Given the description of an element on the screen output the (x, y) to click on. 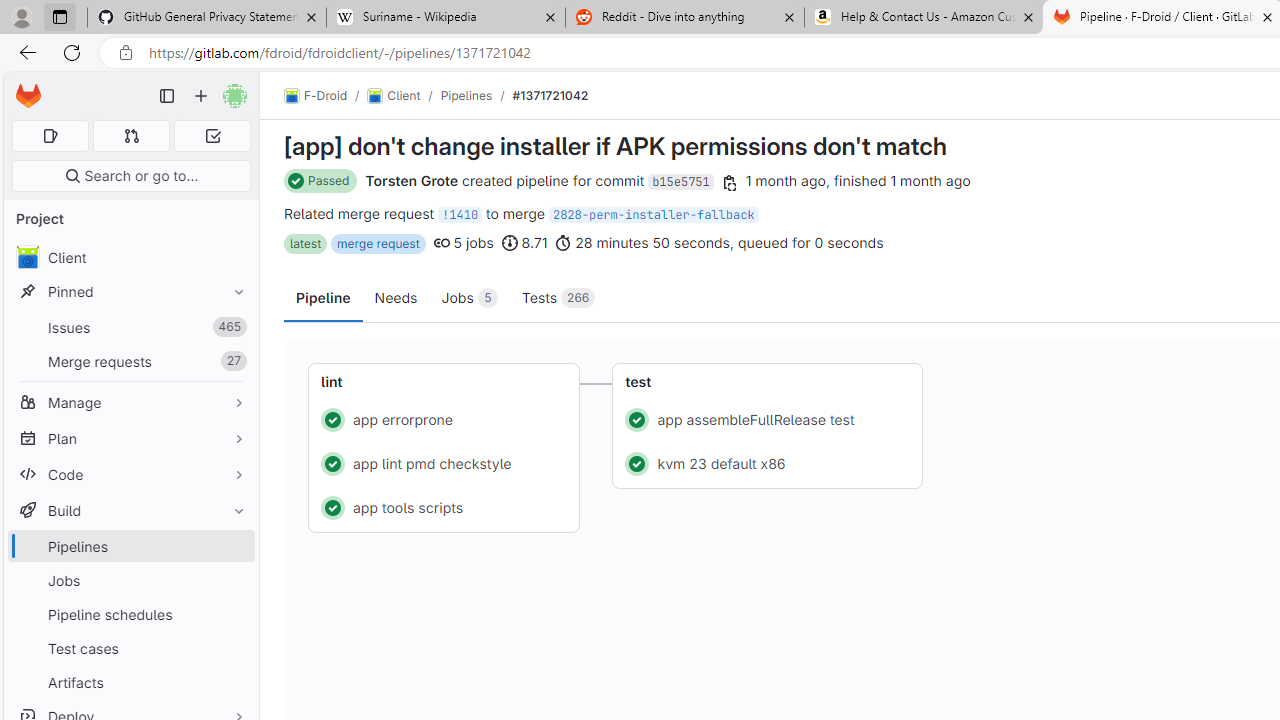
Status: Passed app errorprone (444, 418)
F-Droid (316, 96)
Client (394, 96)
Jobs (130, 579)
Pin Pipelines (234, 546)
Code (130, 474)
Jobs (130, 579)
Artifacts (130, 682)
Pinned (130, 291)
Jobs 5 (468, 296)
Pipelines (130, 546)
Issues465 (130, 327)
#1371721042 (550, 95)
